Given the description of an element on the screen output the (x, y) to click on. 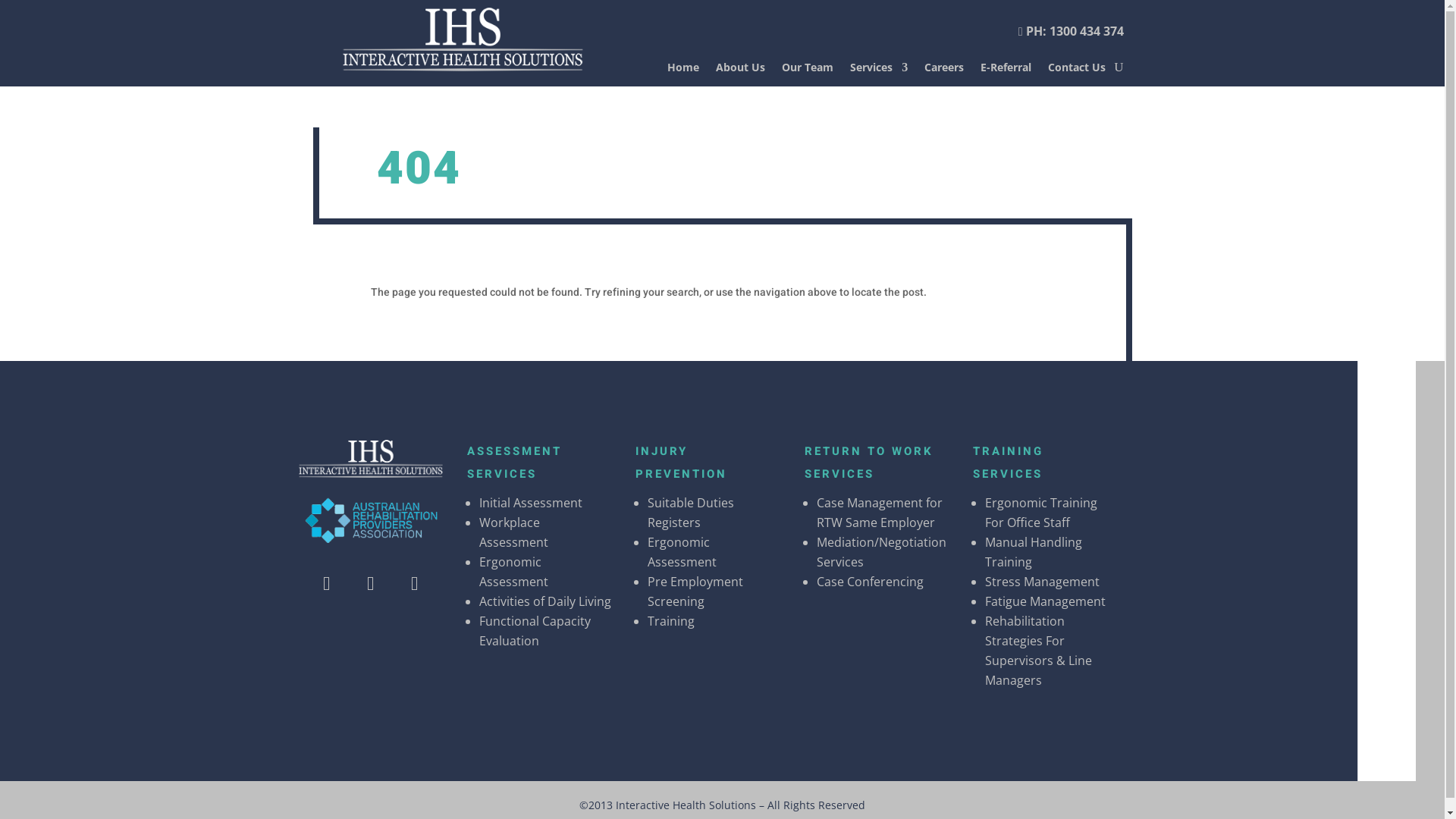
Rehabilitation Strategies For Supervisors & Line Managers Element type: text (1038, 650)
Follow on Facebook Element type: hover (326, 583)
Case Conferencing Element type: text (869, 581)
Services Element type: text (878, 70)
Manual Handling Training Element type: text (1033, 551)
Ergonomic Assessment Element type: text (681, 551)
Ergonomic Training For Office Staff Element type: text (1041, 512)
Pre Employment Screening Element type: text (695, 591)
Functional Capacity Evaluation Element type: text (534, 630)
Activities of Daily Living Element type: text (545, 601)
E-Referral Element type: text (1005, 70)
IHS_Logo_white_transparent Element type: hover (370, 458)
IHS_Logo_white_transparent Element type: hover (462, 39)
Ergonomic Assessment Element type: text (513, 571)
About Us Element type: text (740, 70)
Case Management for RTW Same Employer Element type: text (879, 512)
Training Element type: text (670, 620)
Follow on Instagram Element type: hover (414, 583)
Suitable Duties Registers Element type: text (690, 512)
Mediation/Negotiation Services Element type: text (881, 551)
Stress Management Element type: text (1042, 581)
arpa-logo-2 Element type: hover (370, 520)
Fatigue Management Element type: text (1045, 601)
Workplace Assessment Element type: text (513, 532)
Follow on Twitter Element type: hover (370, 583)
Contact Us Element type: text (1076, 70)
Initial Assessment Element type: text (530, 502)
Home Element type: text (683, 70)
Careers Element type: text (943, 70)
Our Team Element type: text (807, 70)
